Given the description of an element on the screen output the (x, y) to click on. 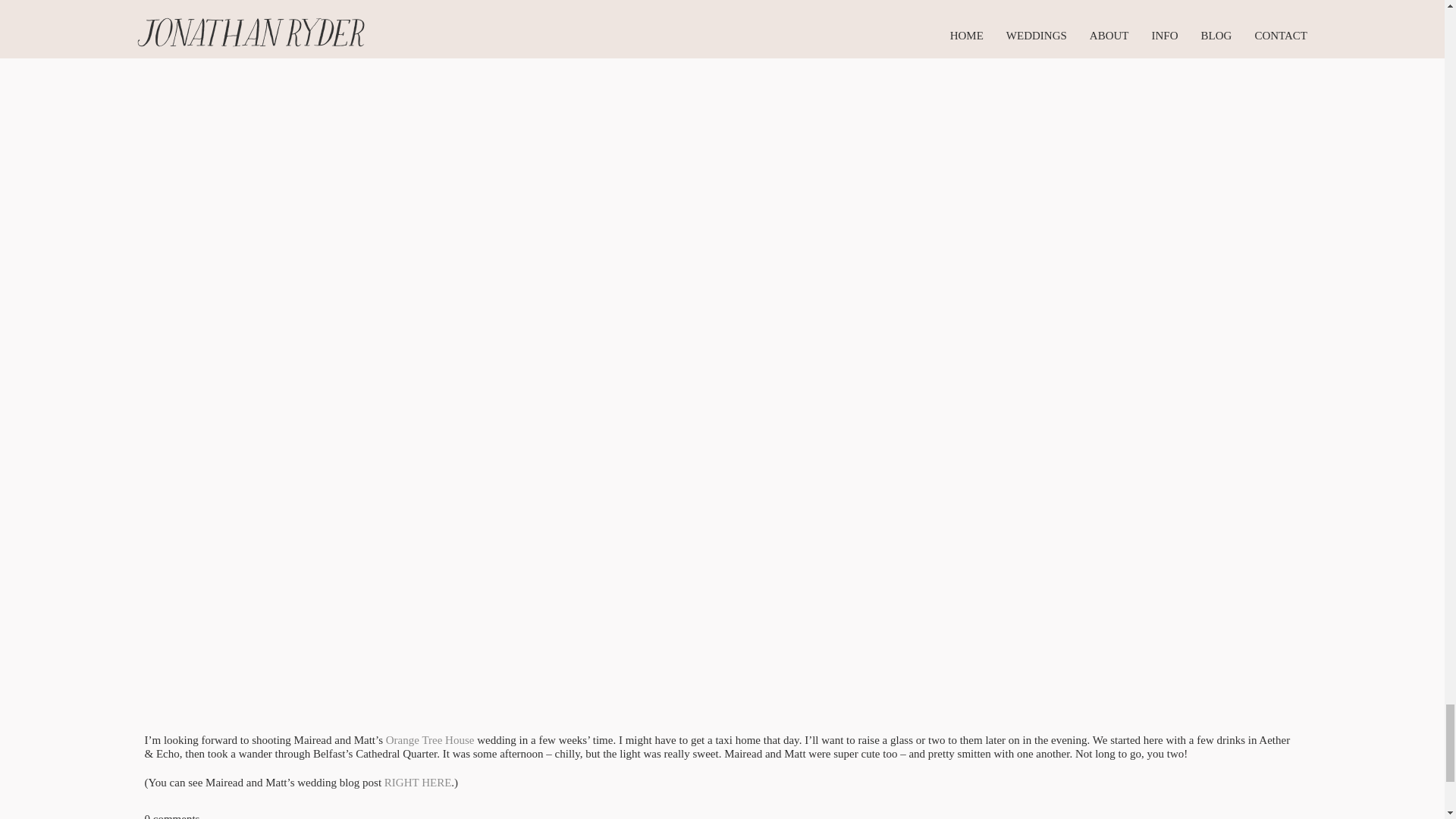
Orange Tree House (429, 739)
RIGHT HERE (417, 782)
